Given the description of an element on the screen output the (x, y) to click on. 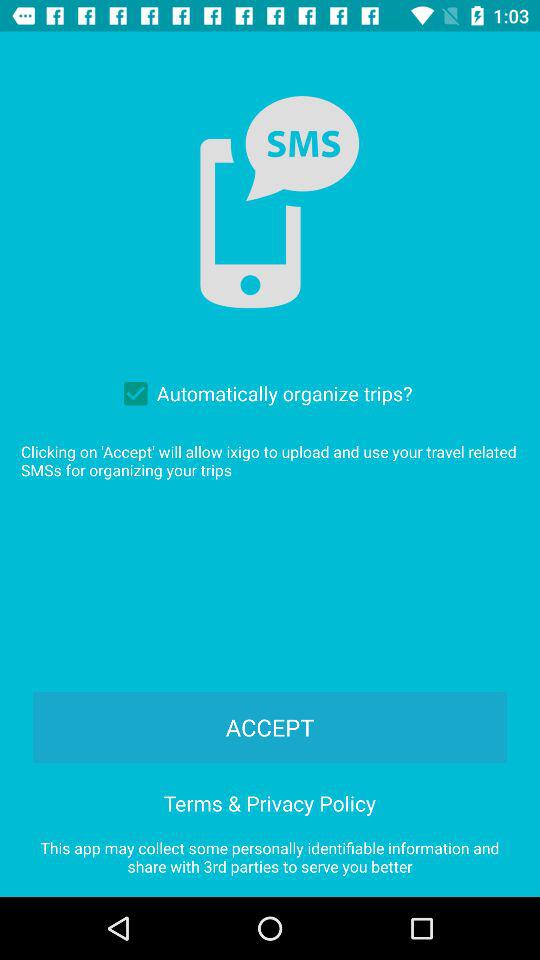
scroll to terms & privacy policy icon (270, 799)
